Given the description of an element on the screen output the (x, y) to click on. 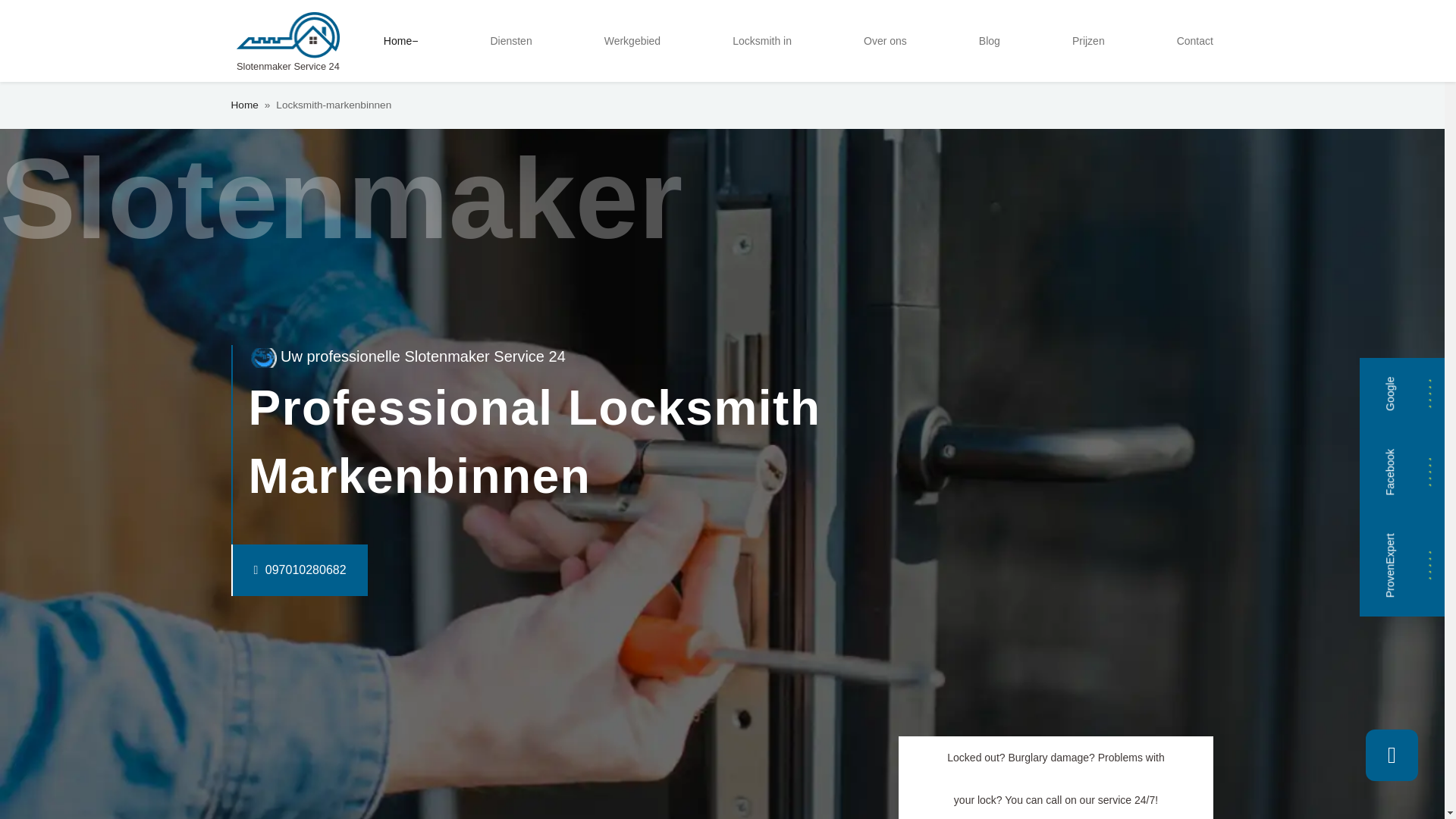
Prijzen (1087, 40)
Home (243, 105)
Werkgebied (632, 40)
Over ons (884, 40)
Locksmith in (761, 40)
Contact (1195, 40)
Diensten (510, 40)
Slotenmaker Service 24 (287, 40)
Home (401, 40)
097010280682 (268, 570)
Blog (989, 40)
